Given the description of an element on the screen output the (x, y) to click on. 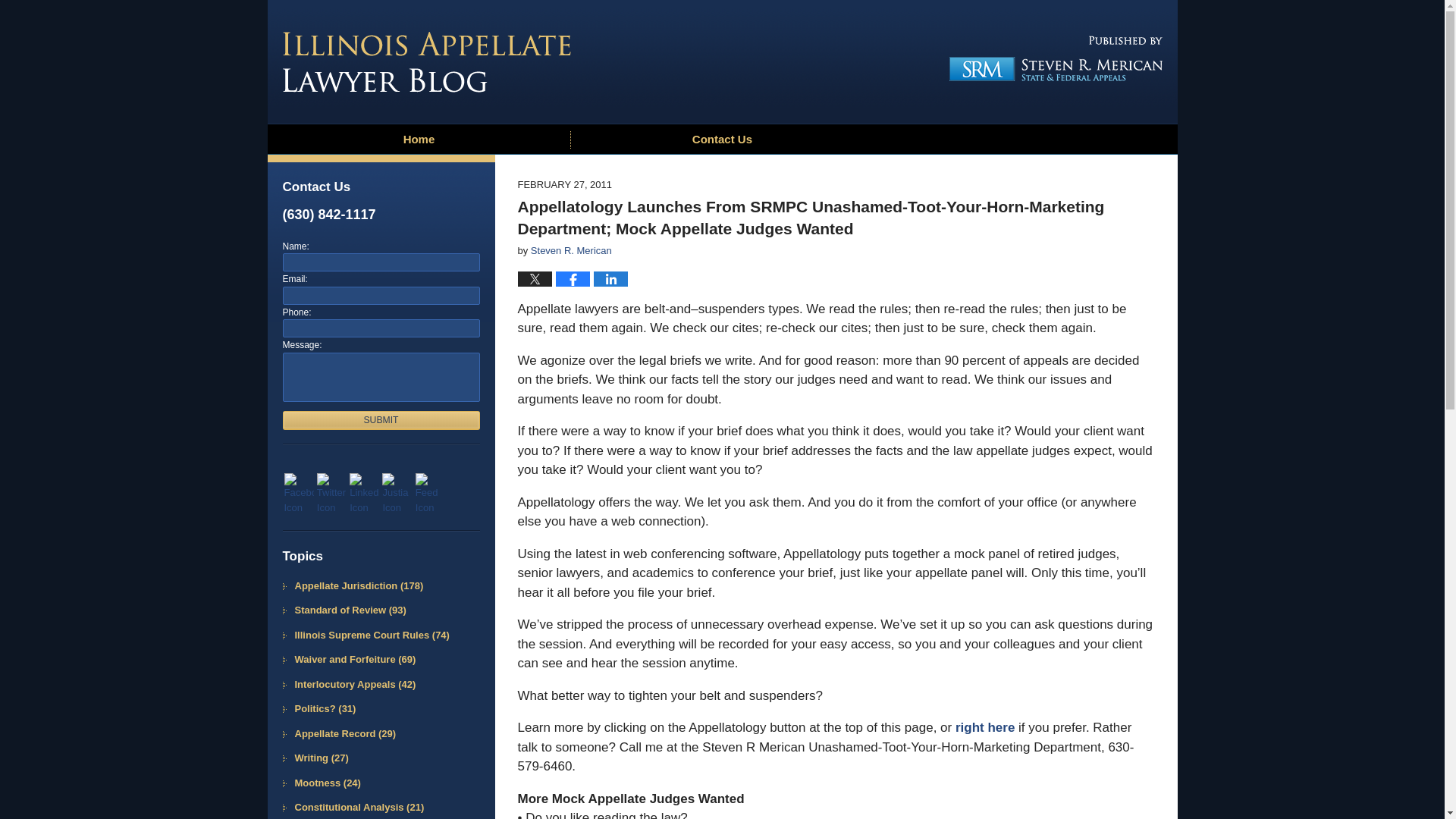
SUBMIT (380, 420)
Contact Us (721, 138)
Please enter a valid phone number. (380, 328)
Steven R. Merican (571, 250)
Illinois Appellate Lawyer Blog (426, 61)
Published By Steven R. Merican (1050, 58)
Home (418, 138)
right here (983, 727)
